Given the description of an element on the screen output the (x, y) to click on. 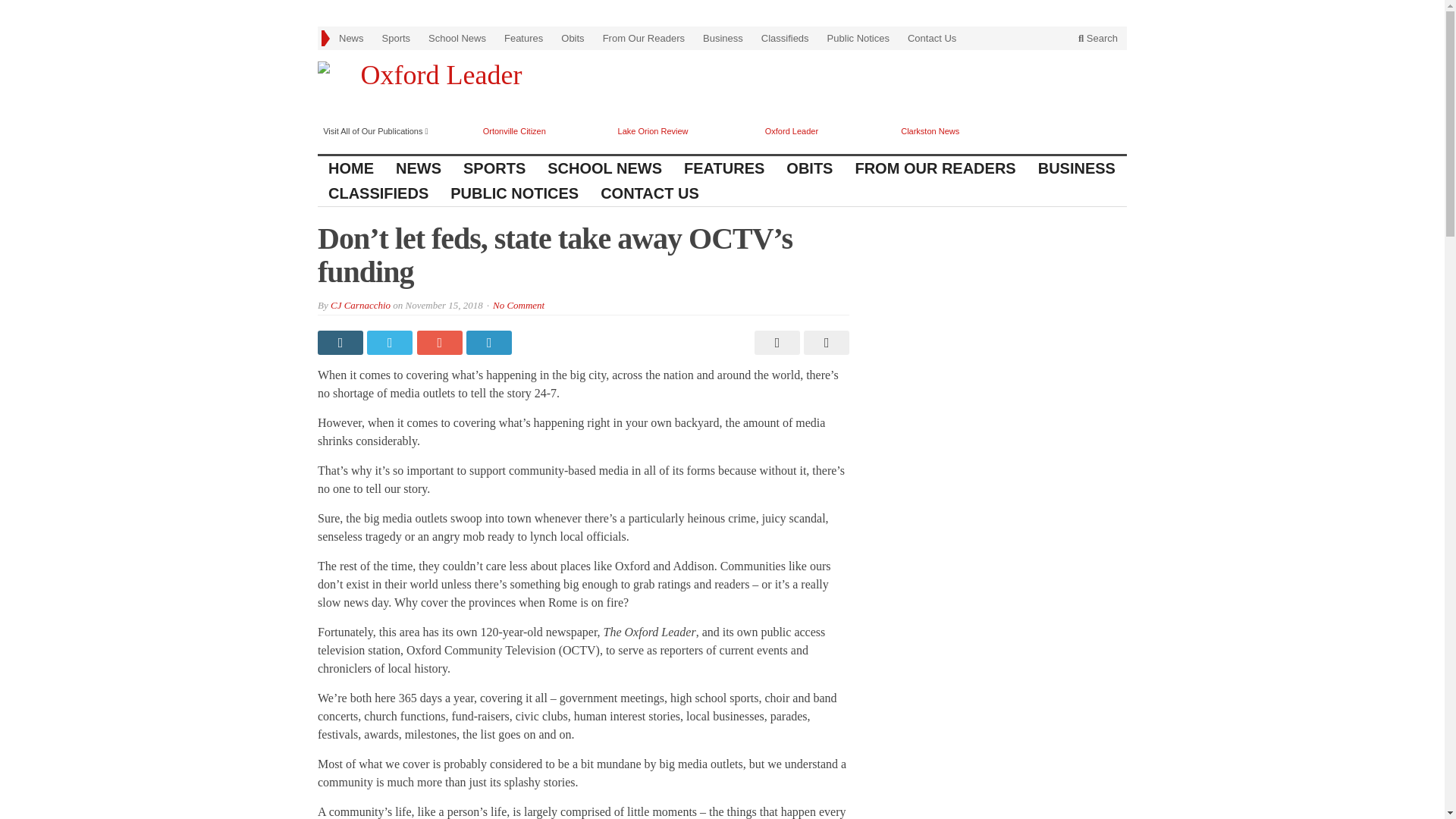
Oxford Leader (791, 130)
PUBLIC NOTICES (514, 193)
Clarkston News (930, 130)
Print This Post (775, 342)
FROM OUR READERS (935, 168)
Share on Twitter (391, 342)
Features (523, 37)
Obits (571, 37)
Share on LinkedIn (490, 342)
BUSINESS (1076, 168)
